Given the description of an element on the screen output the (x, y) to click on. 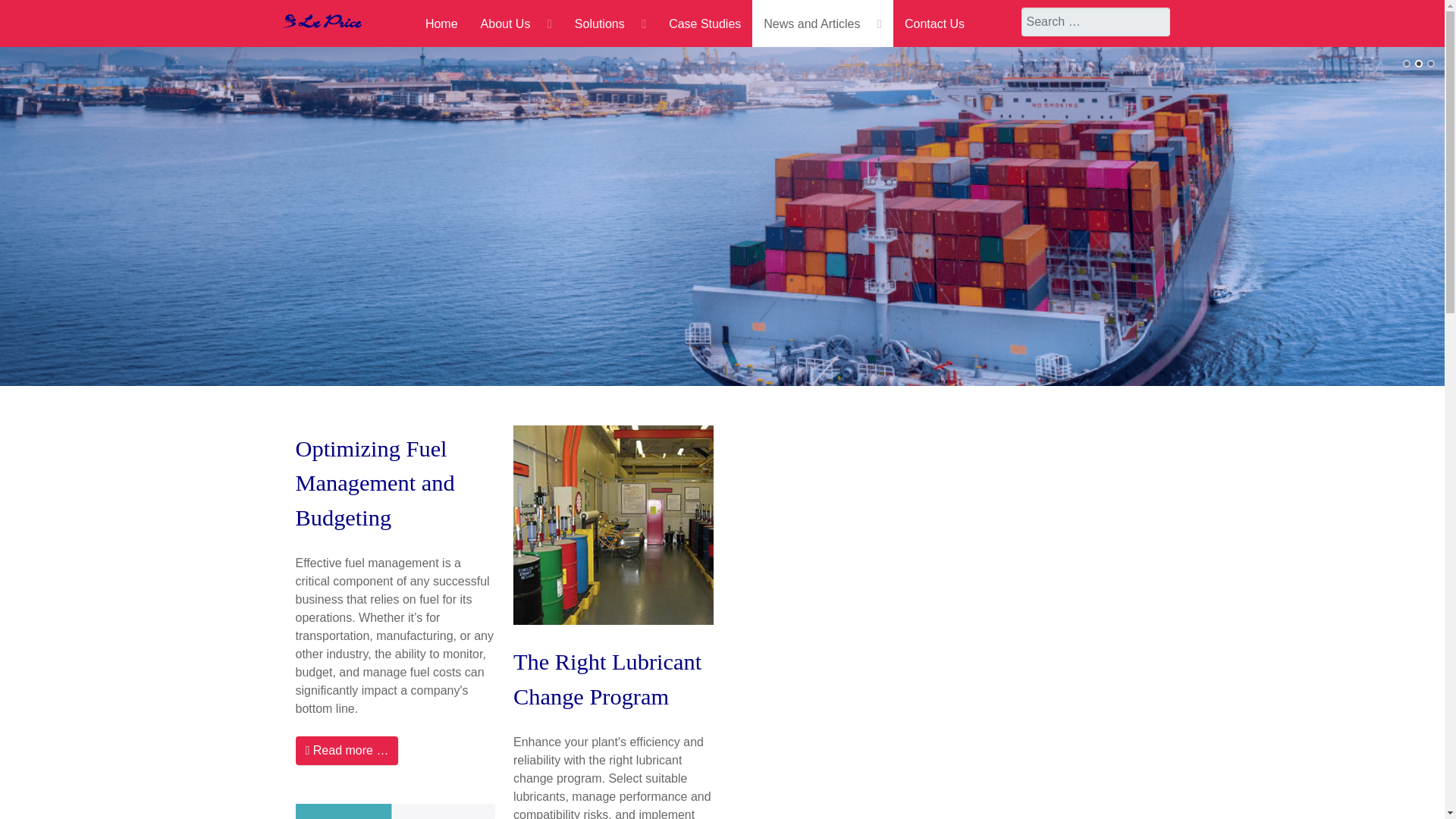
Solutions (610, 23)
Home (440, 23)
Le Price International (321, 19)
Solutions (610, 23)
About Us (515, 23)
News and Articles (822, 23)
